Given the description of an element on the screen output the (x, y) to click on. 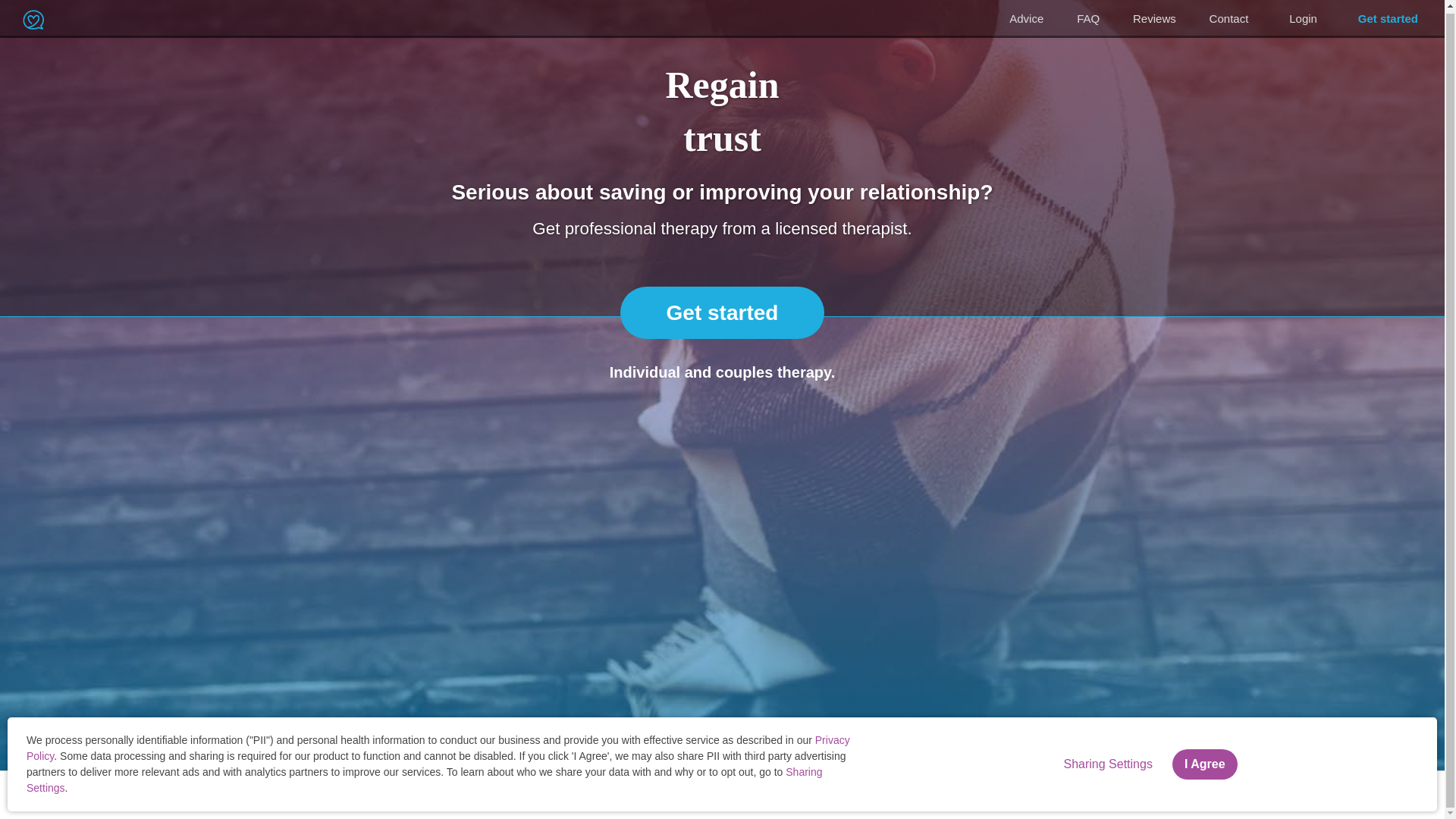
Advice (1026, 16)
I Agree (1204, 761)
Login (1303, 18)
Get started (1387, 18)
FAQ (1088, 16)
Sharing Settings (424, 777)
Sharing Settings (1107, 761)
Privacy Policy (146, 794)
Sharing Settings (227, 794)
Get started (722, 312)
These resources (1303, 786)
Web Accessibility (316, 794)
Reviews (1154, 16)
Privacy Policy (438, 746)
Contact (1228, 16)
